Given the description of an element on the screen output the (x, y) to click on. 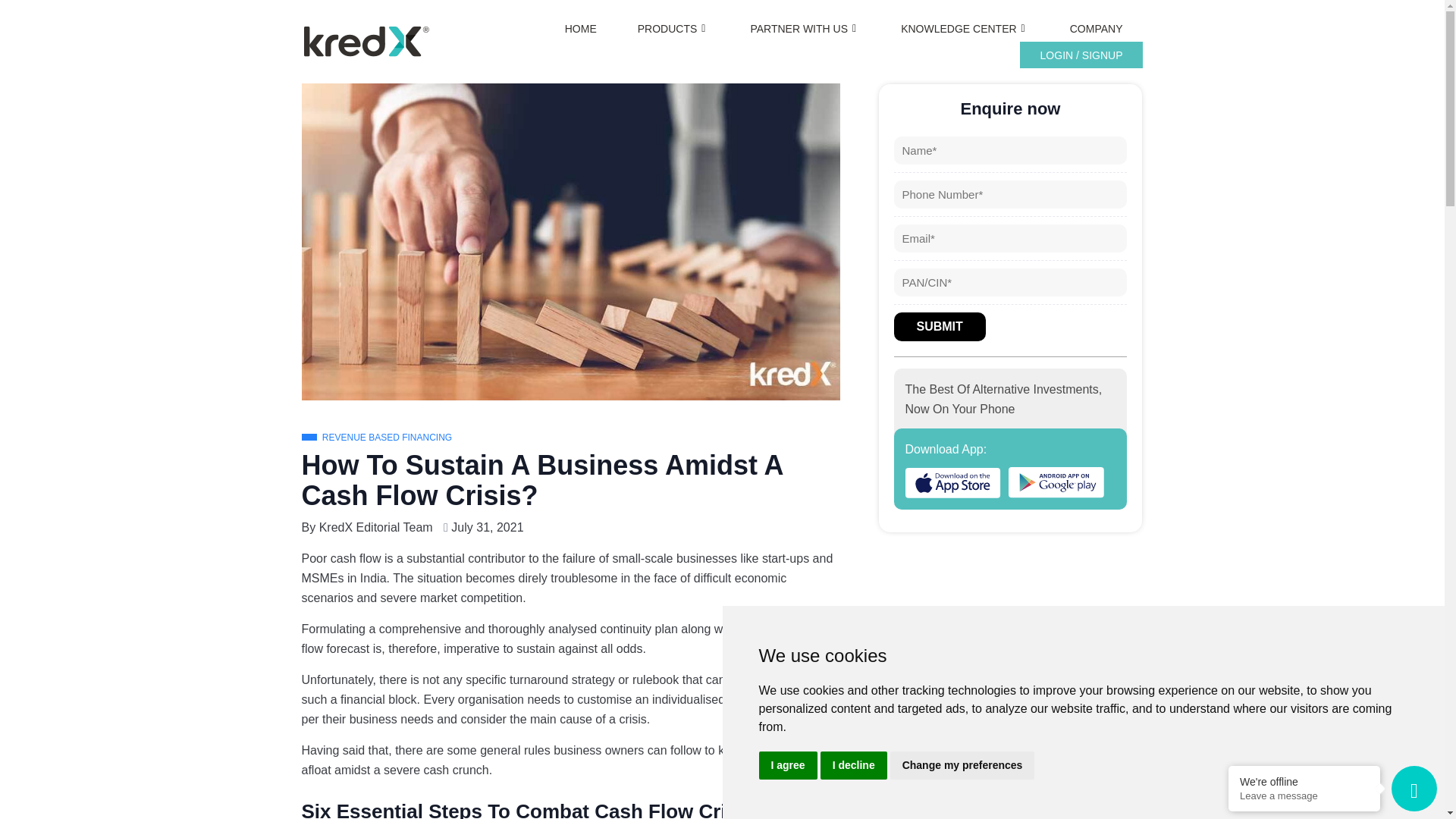
COMPANY (1095, 28)
Change my preferences (962, 765)
I agree (787, 765)
I decline (853, 765)
We're offline (1304, 781)
PRODUCTS (673, 28)
Leave a message (1304, 795)
PARTNER WITH US (804, 28)
KNOWLEDGE CENTER (964, 28)
HOME (580, 28)
